Given the description of an element on the screen output the (x, y) to click on. 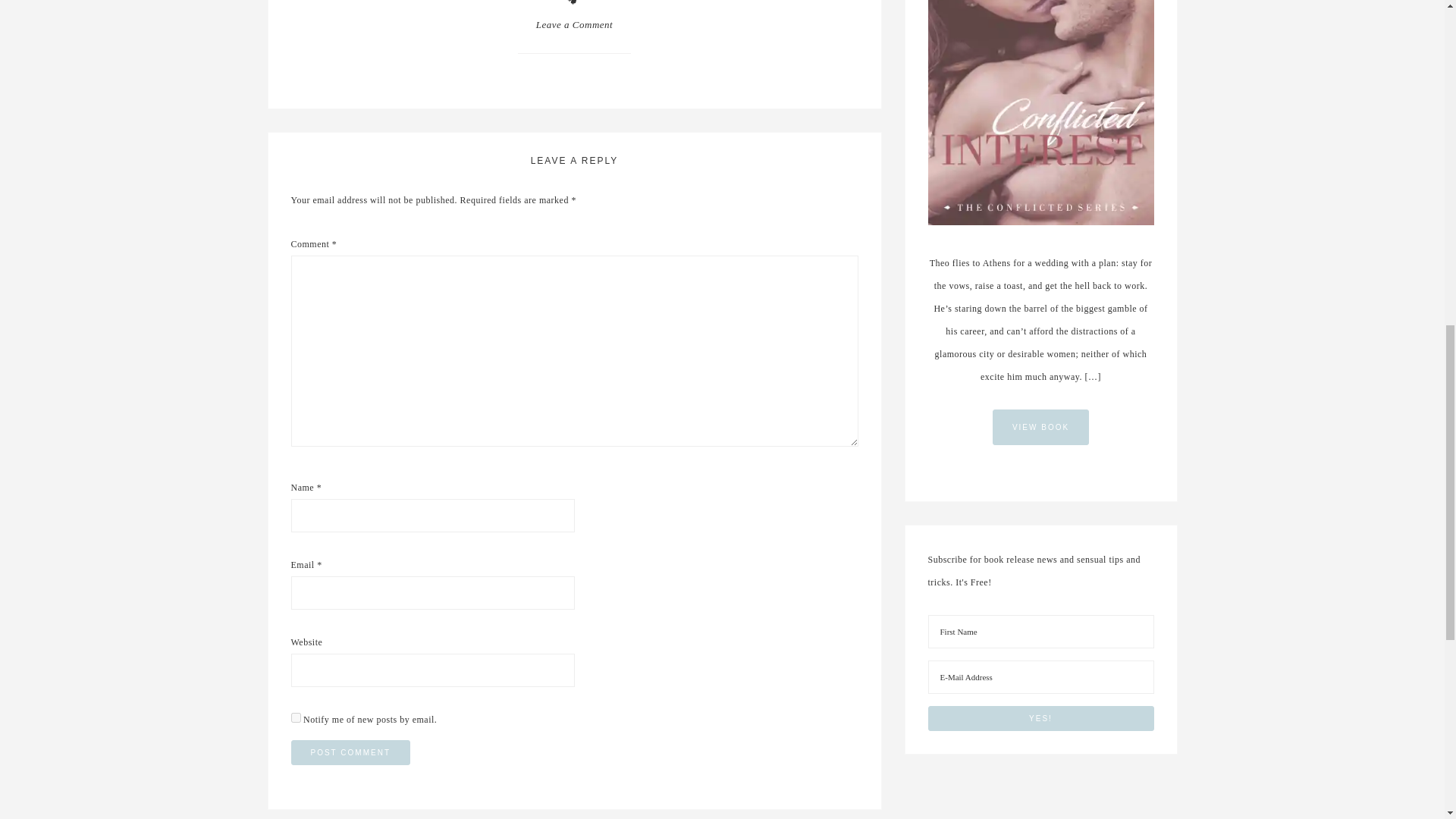
subscribe (296, 717)
Leave a Comment (573, 24)
Yes! (1041, 718)
Post Comment (350, 752)
Yes! (1041, 718)
VIEW BOOK (1040, 427)
Post Comment (350, 752)
